Given the description of an element on the screen output the (x, y) to click on. 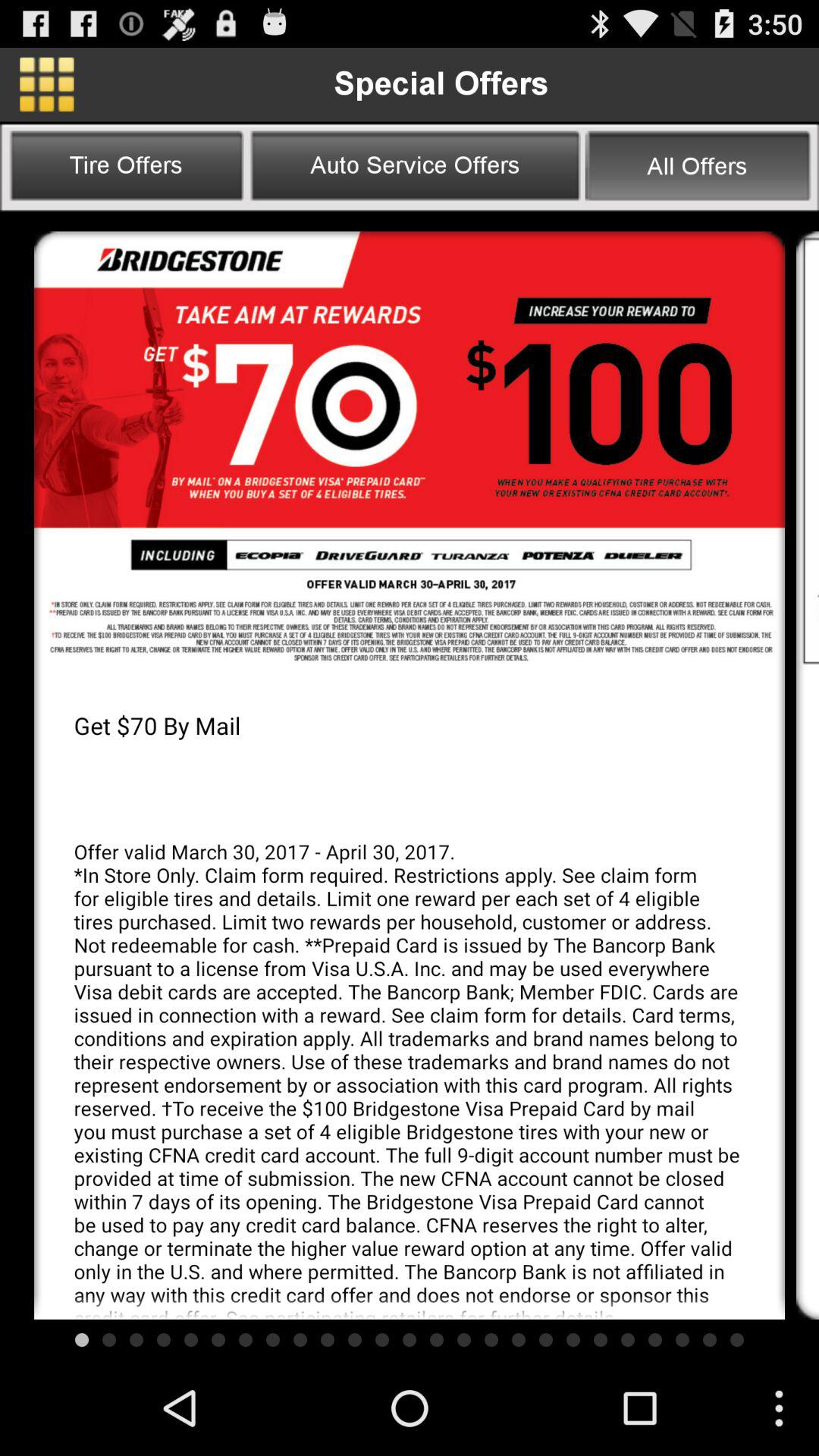
go to next page (807, 450)
